Given the description of an element on the screen output the (x, y) to click on. 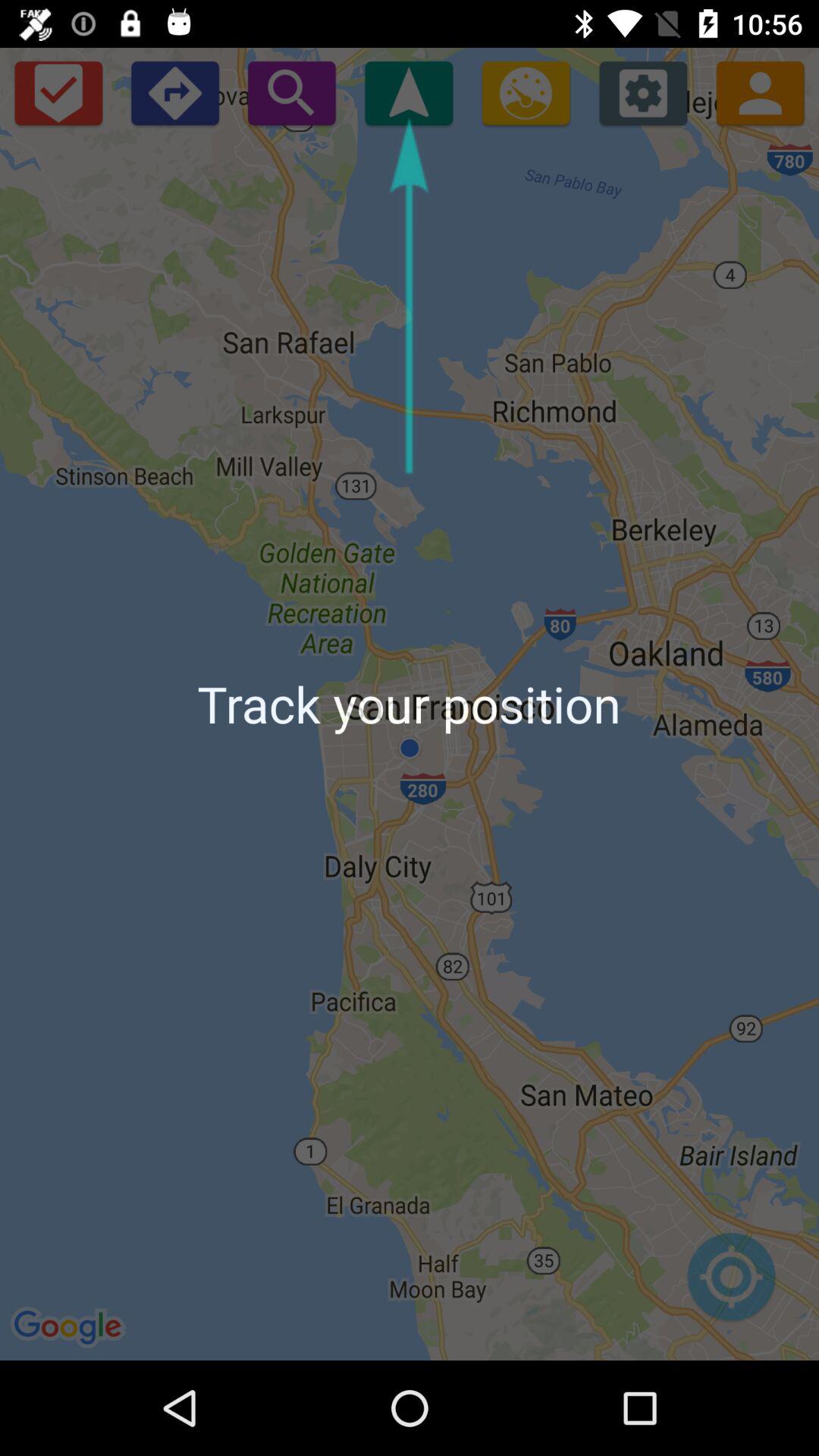
contact option (760, 92)
